Given the description of an element on the screen output the (x, y) to click on. 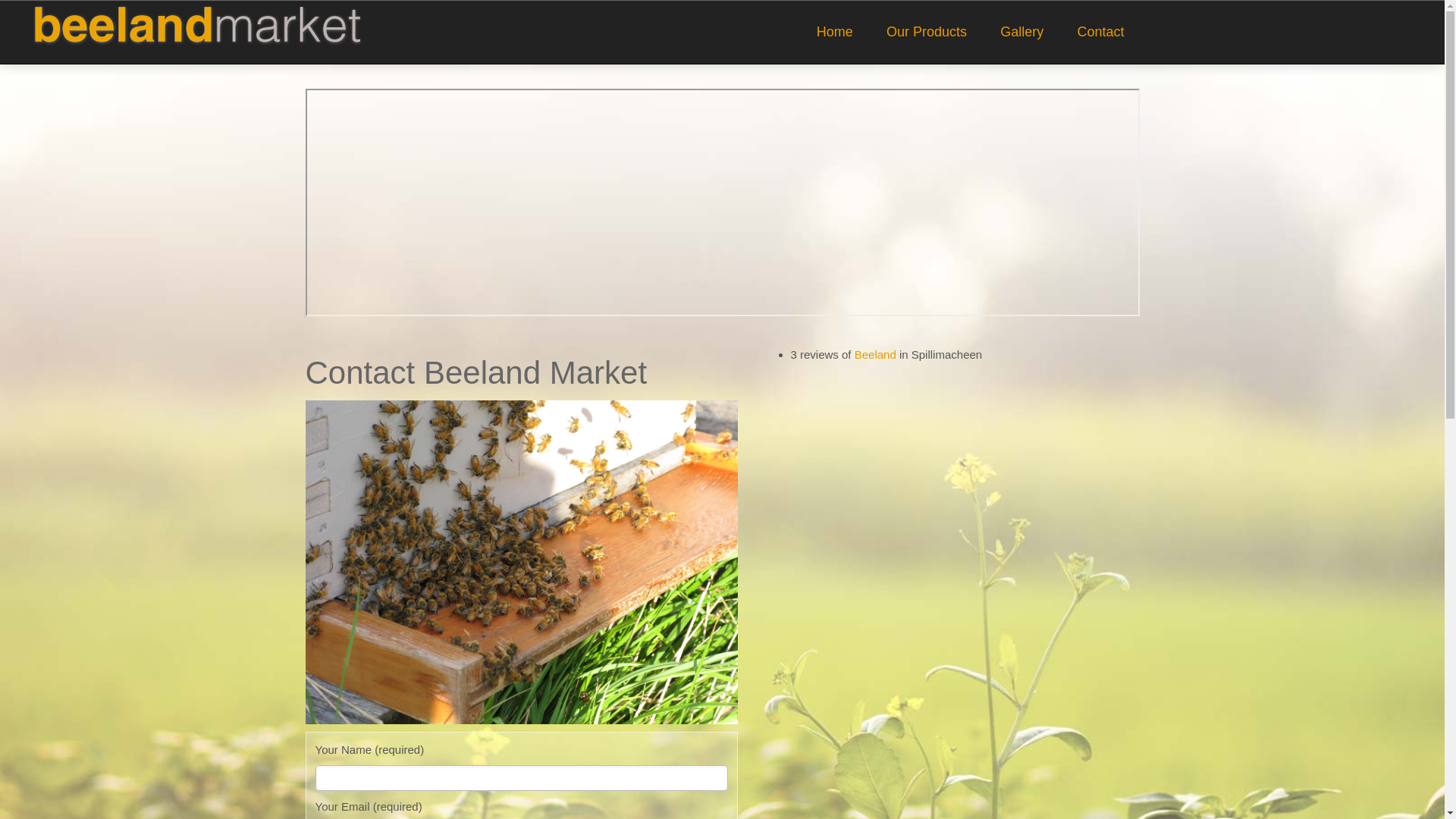
Beeland Market Element type: hover (194, 22)
Home Element type: text (834, 31)
Beeland Element type: text (875, 354)
Our Products Element type: text (926, 31)
Gallery Element type: text (1021, 31)
Contact Element type: text (1100, 31)
